Given the description of an element on the screen output the (x, y) to click on. 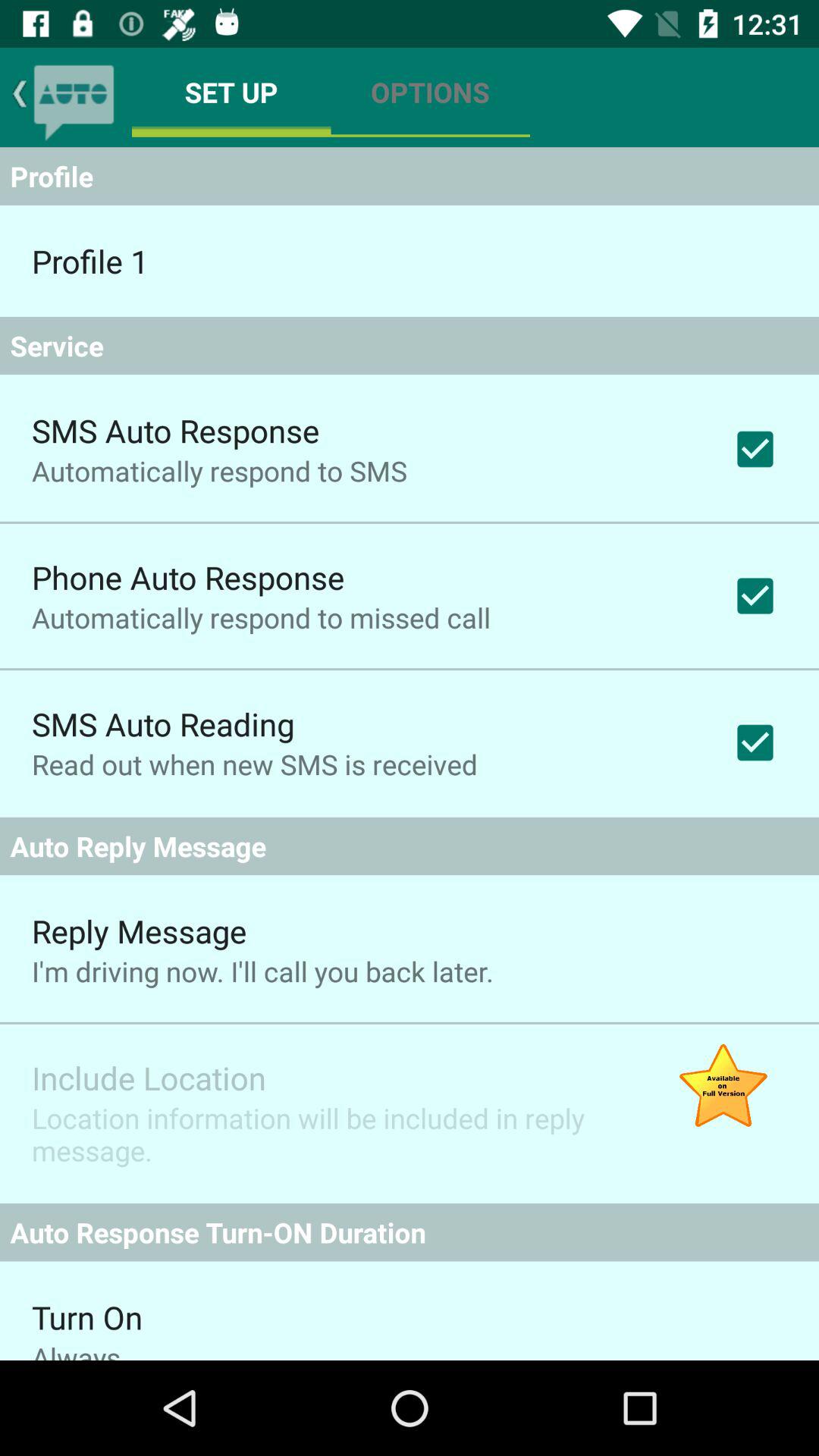
tap the i m driving icon (262, 971)
